Given the description of an element on the screen output the (x, y) to click on. 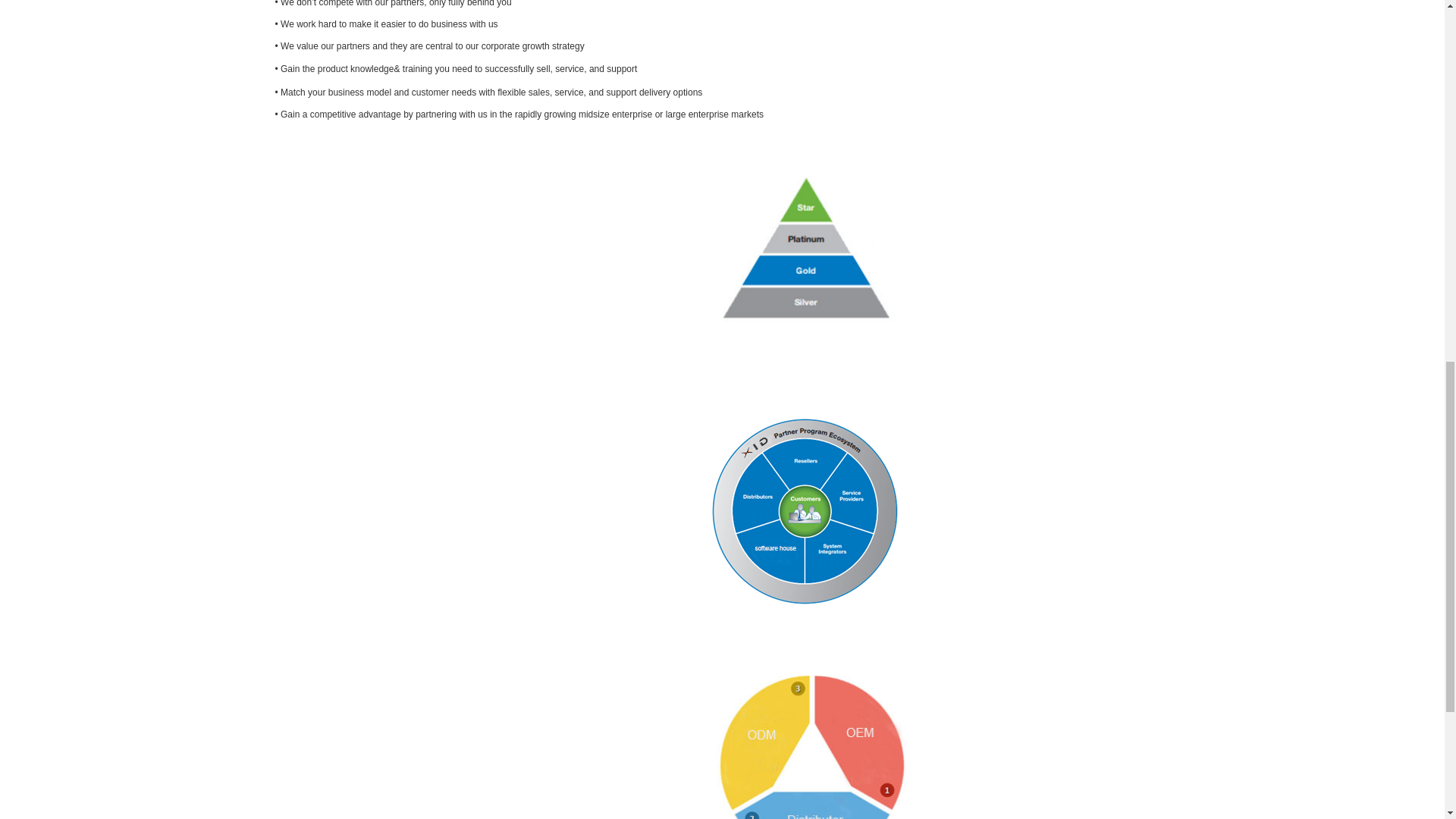
1476091537587172.png (810, 511)
1476091544297927.png (809, 744)
1476091553757565.png (809, 247)
